Given the description of an element on the screen output the (x, y) to click on. 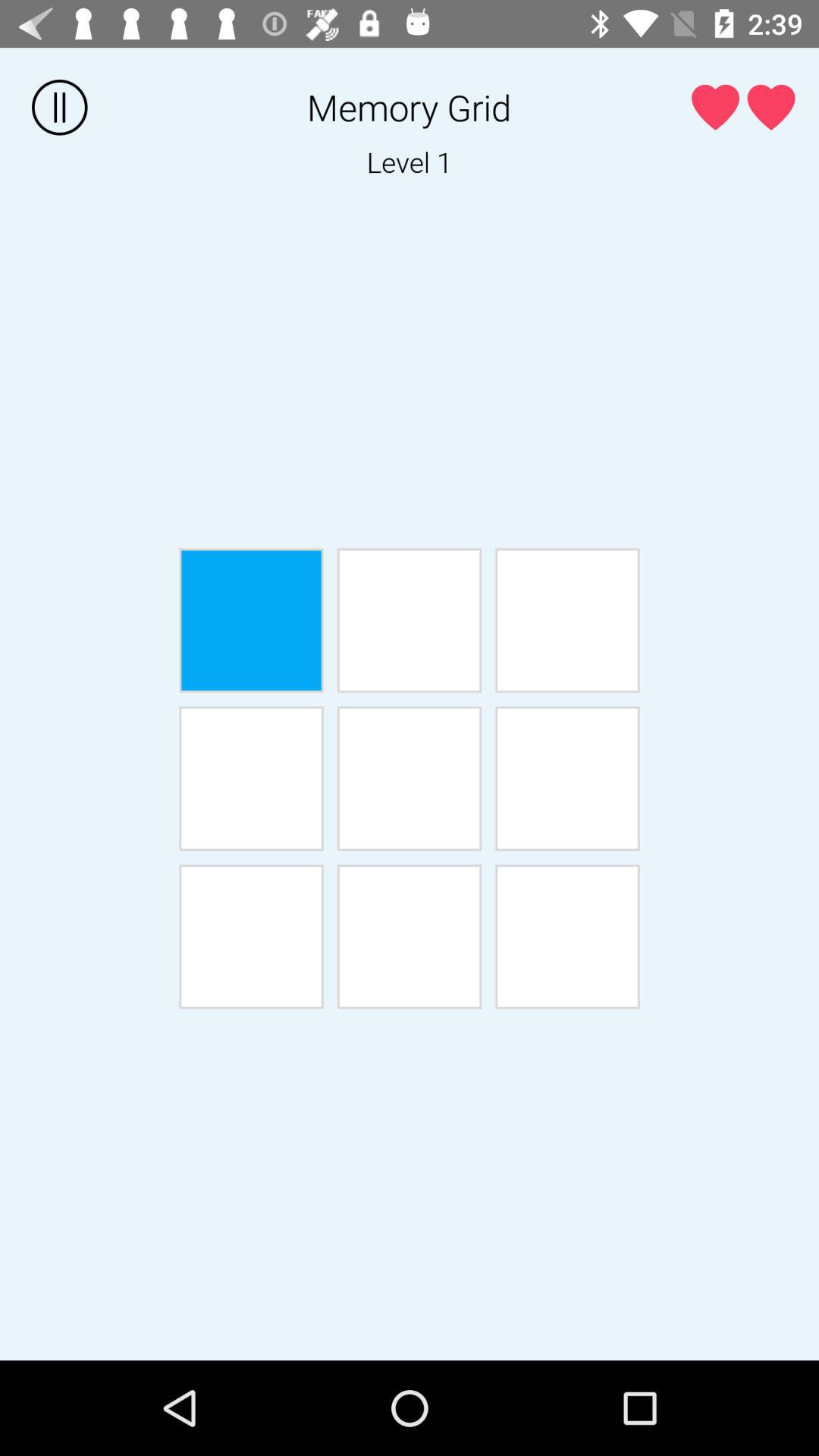
select the color (409, 620)
